Given the description of an element on the screen output the (x, y) to click on. 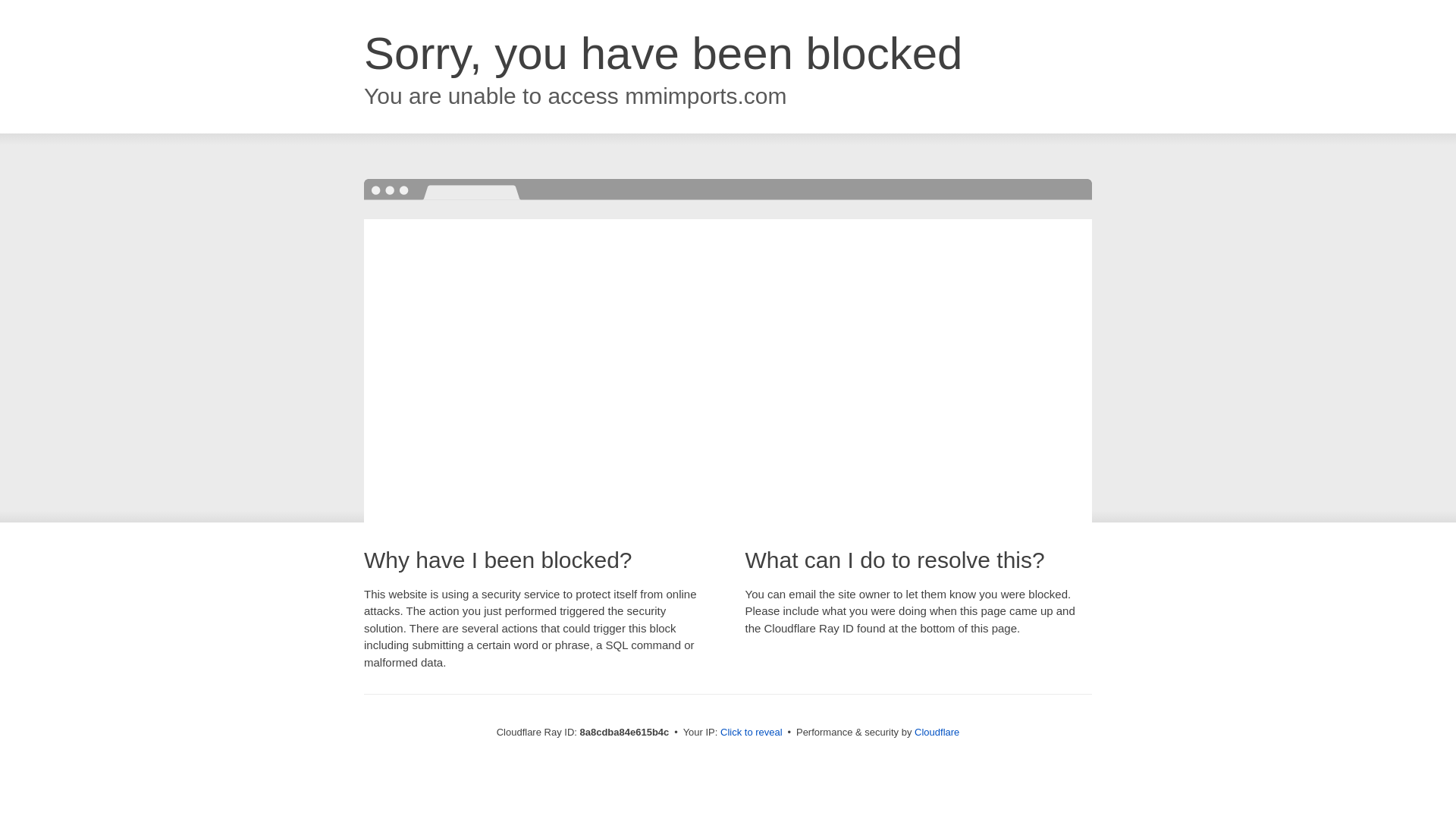
Click to reveal (751, 732)
Cloudflare (936, 731)
